Given the description of an element on the screen output the (x, y) to click on. 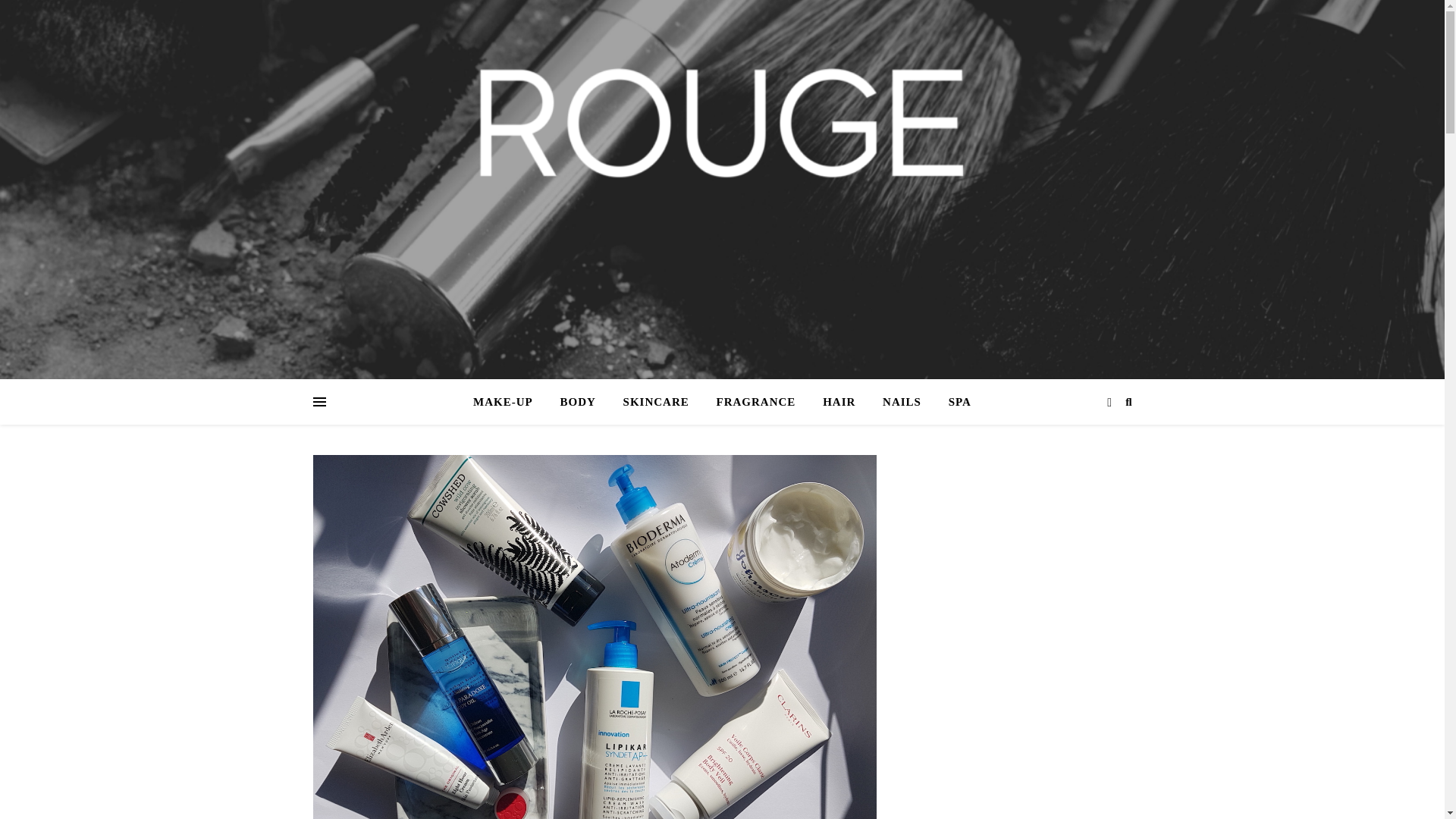
SKINCARE (656, 402)
FRAGRANCE (756, 402)
SPA (953, 402)
HAIR (838, 402)
BODY (577, 402)
NAILS (901, 402)
MAKE-UP (508, 402)
